Given the description of an element on the screen output the (x, y) to click on. 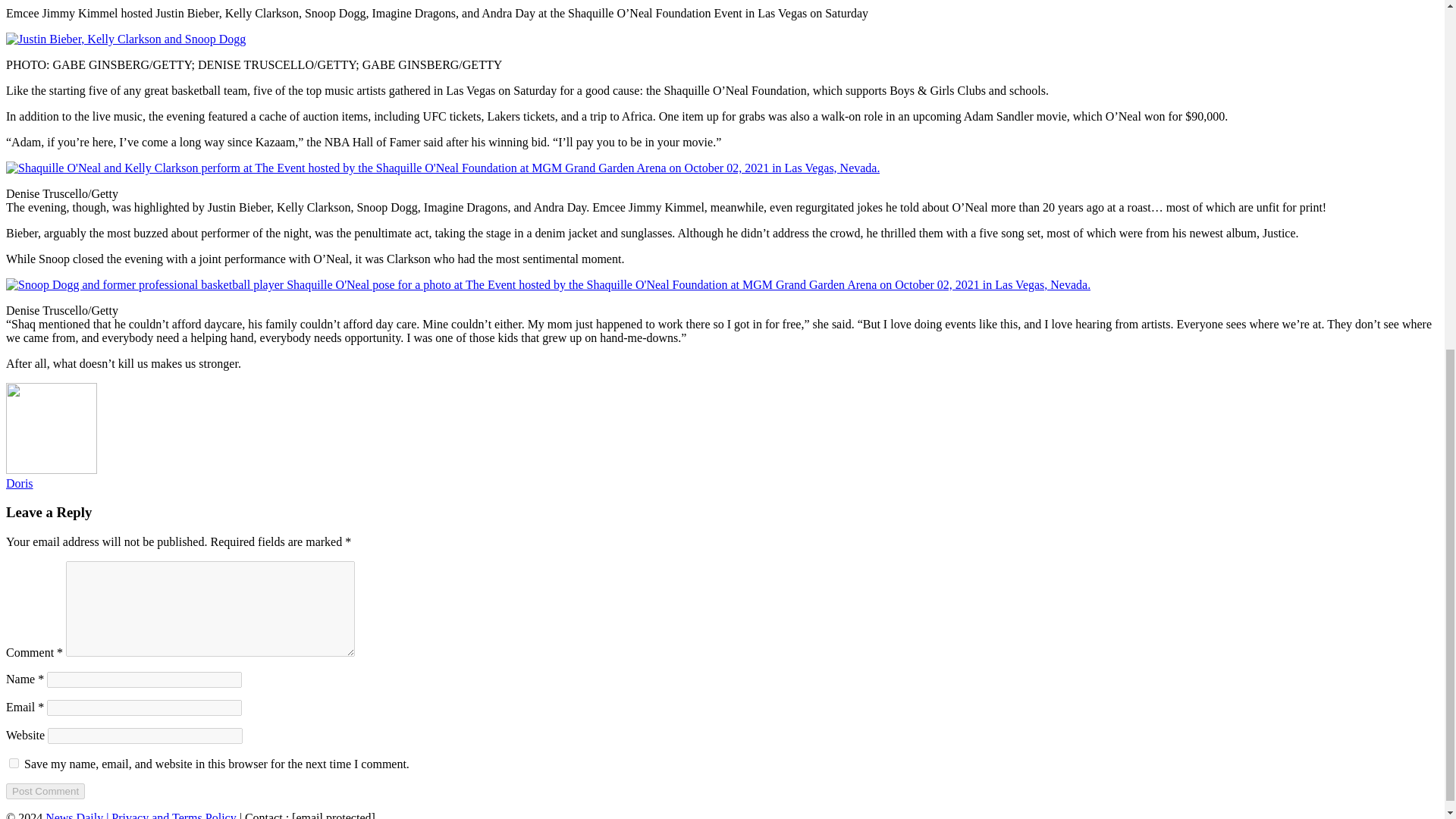
Post Comment (44, 790)
yes (13, 763)
Doris (19, 482)
Post Comment (44, 790)
